Given the description of an element on the screen output the (x, y) to click on. 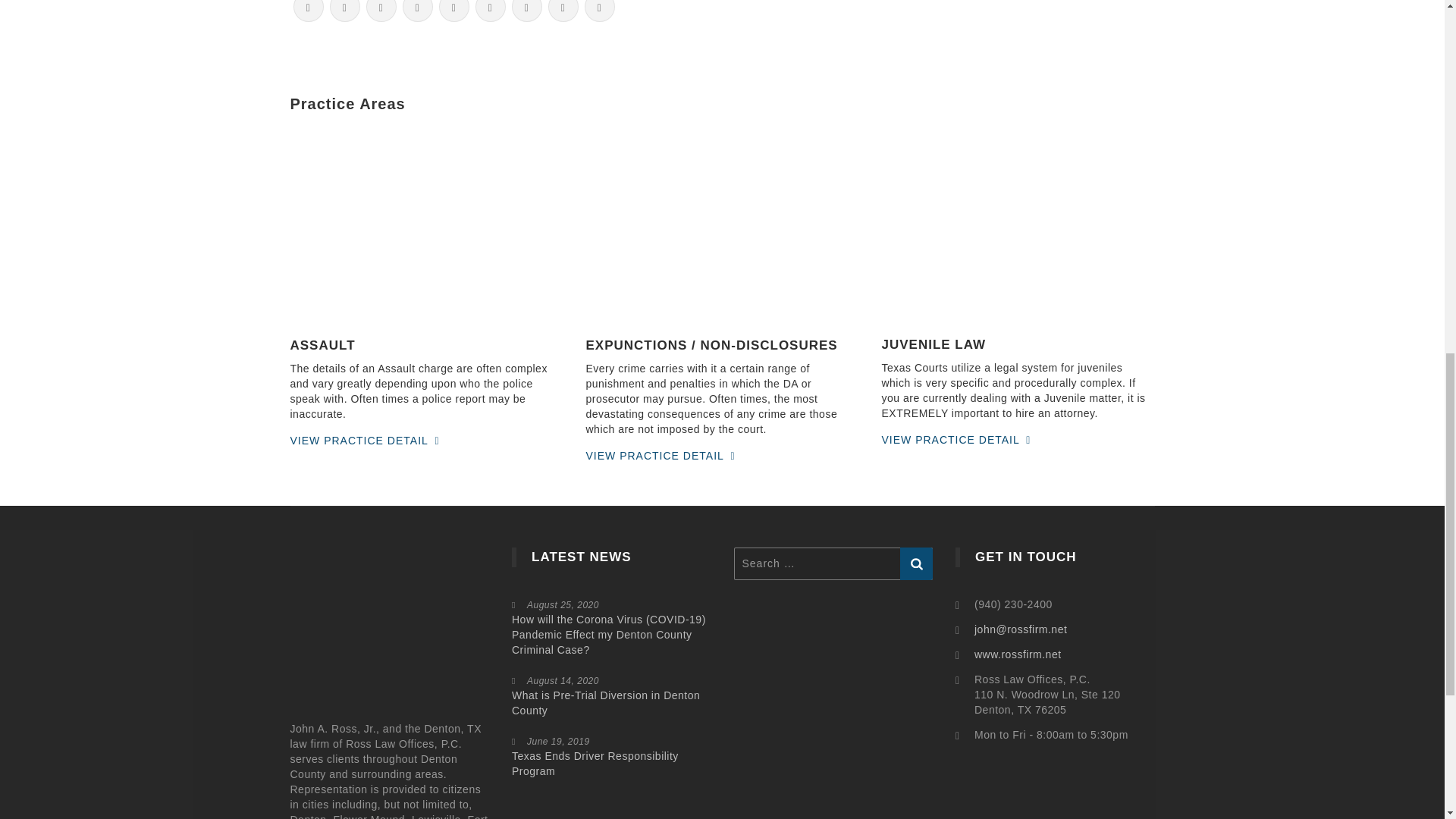
Search (916, 563)
Search (916, 563)
